Given the description of an element on the screen output the (x, y) to click on. 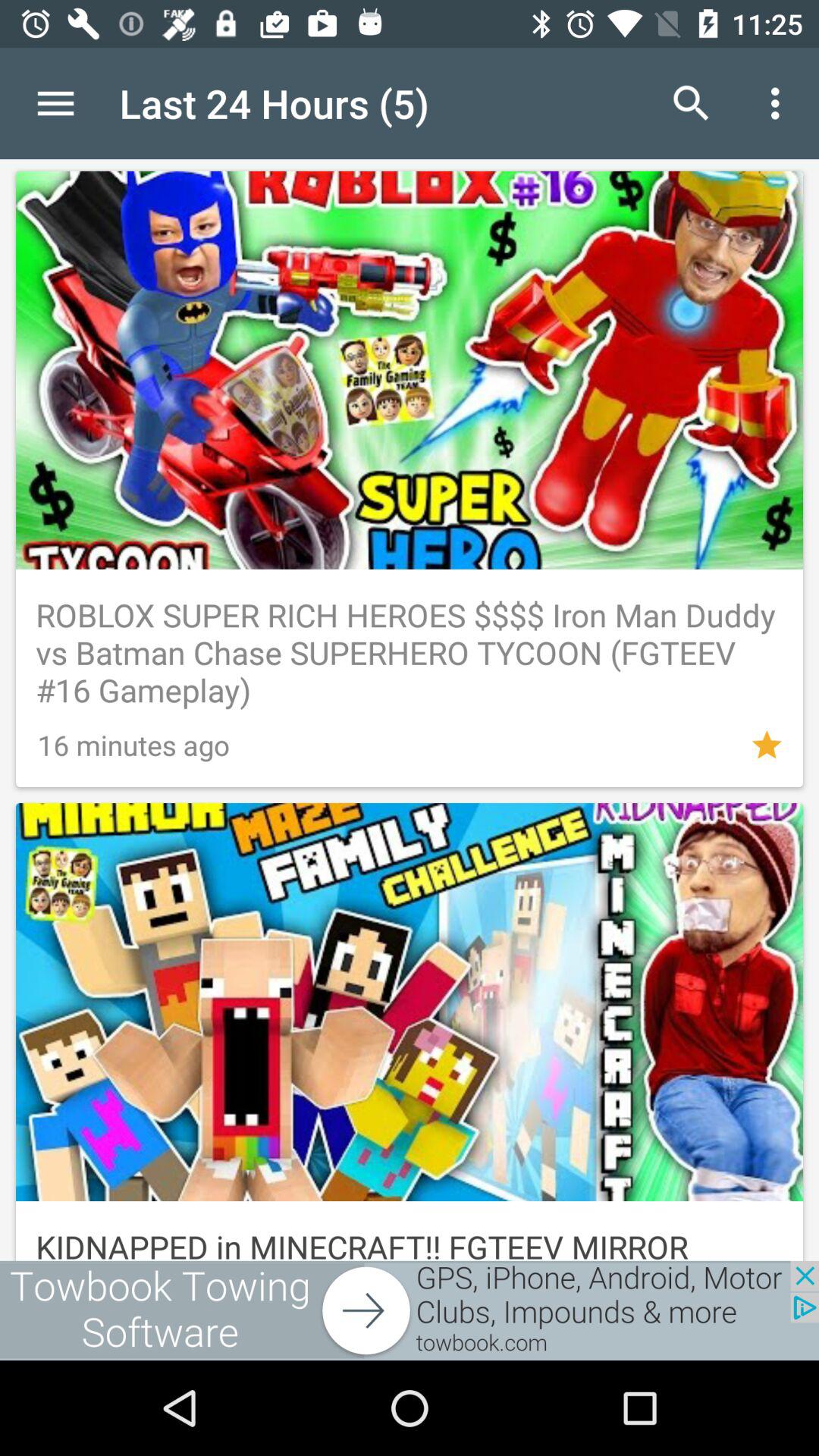
go to advertisements website (409, 1310)
